Given the description of an element on the screen output the (x, y) to click on. 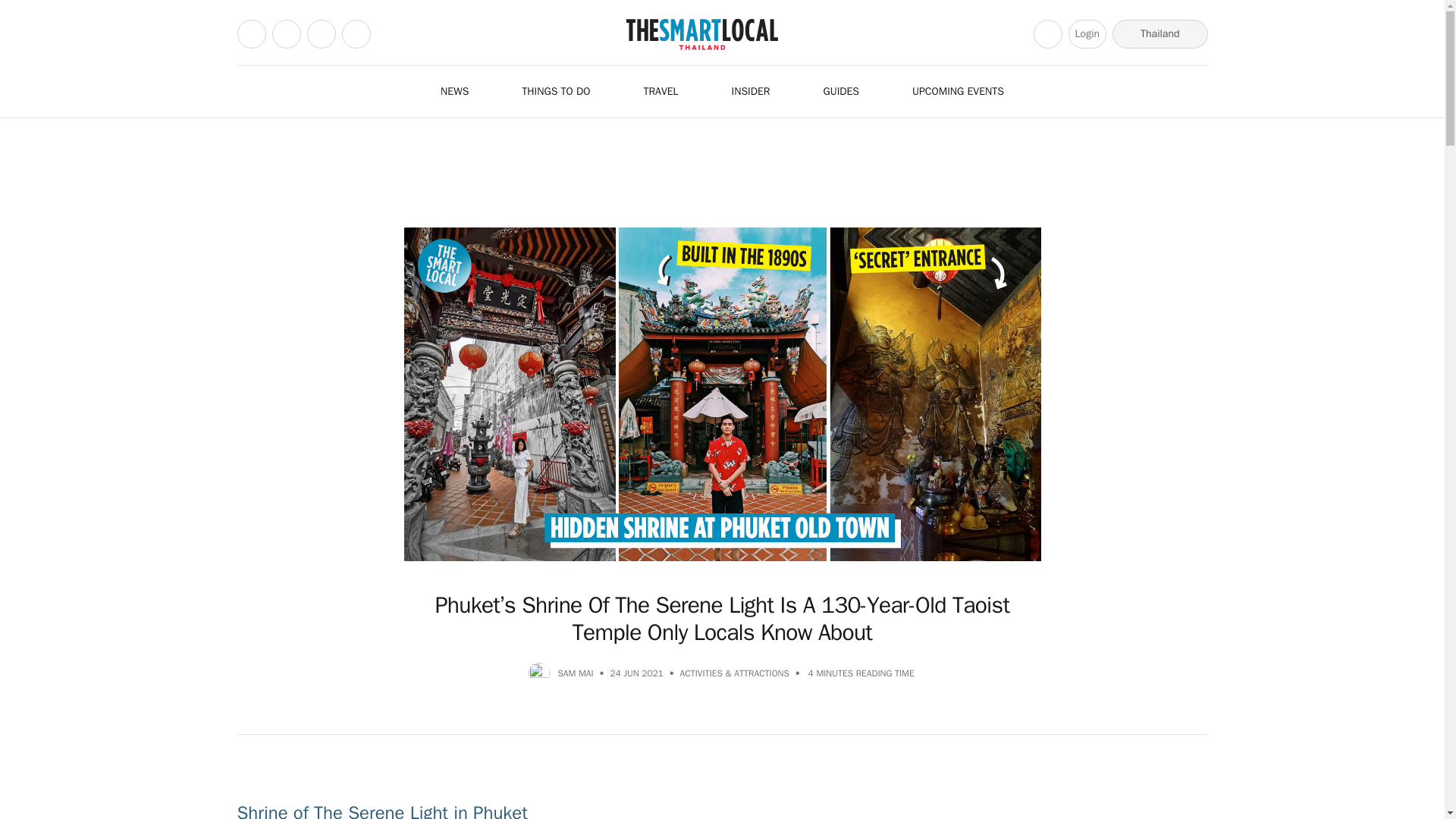
NEWS (462, 91)
THINGS TO DO (563, 91)
Thailand (1159, 33)
Login (1087, 33)
Open search popup (1047, 33)
Posts by Sam Mai (574, 673)
